Given the description of an element on the screen output the (x, y) to click on. 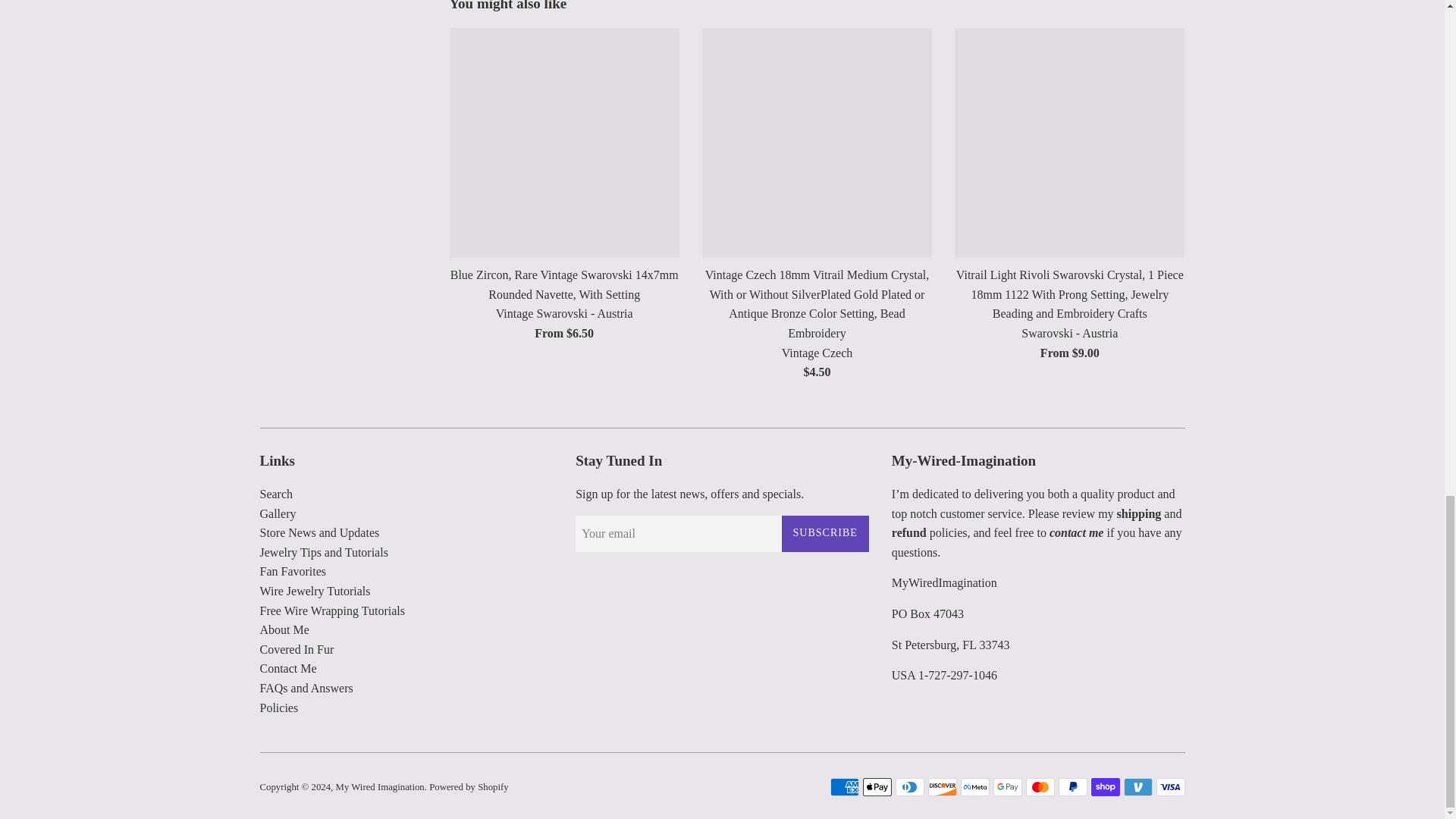
Meta Pay (973, 787)
PayPal (1072, 787)
Diners Club (909, 787)
Shipping Policy (1138, 513)
American Express (844, 787)
Contact Me (1076, 532)
Google Pay (1007, 787)
Refund Policy (908, 532)
Apple Pay (877, 787)
Discover (942, 787)
Mastercard (1039, 787)
